Given the description of an element on the screen output the (x, y) to click on. 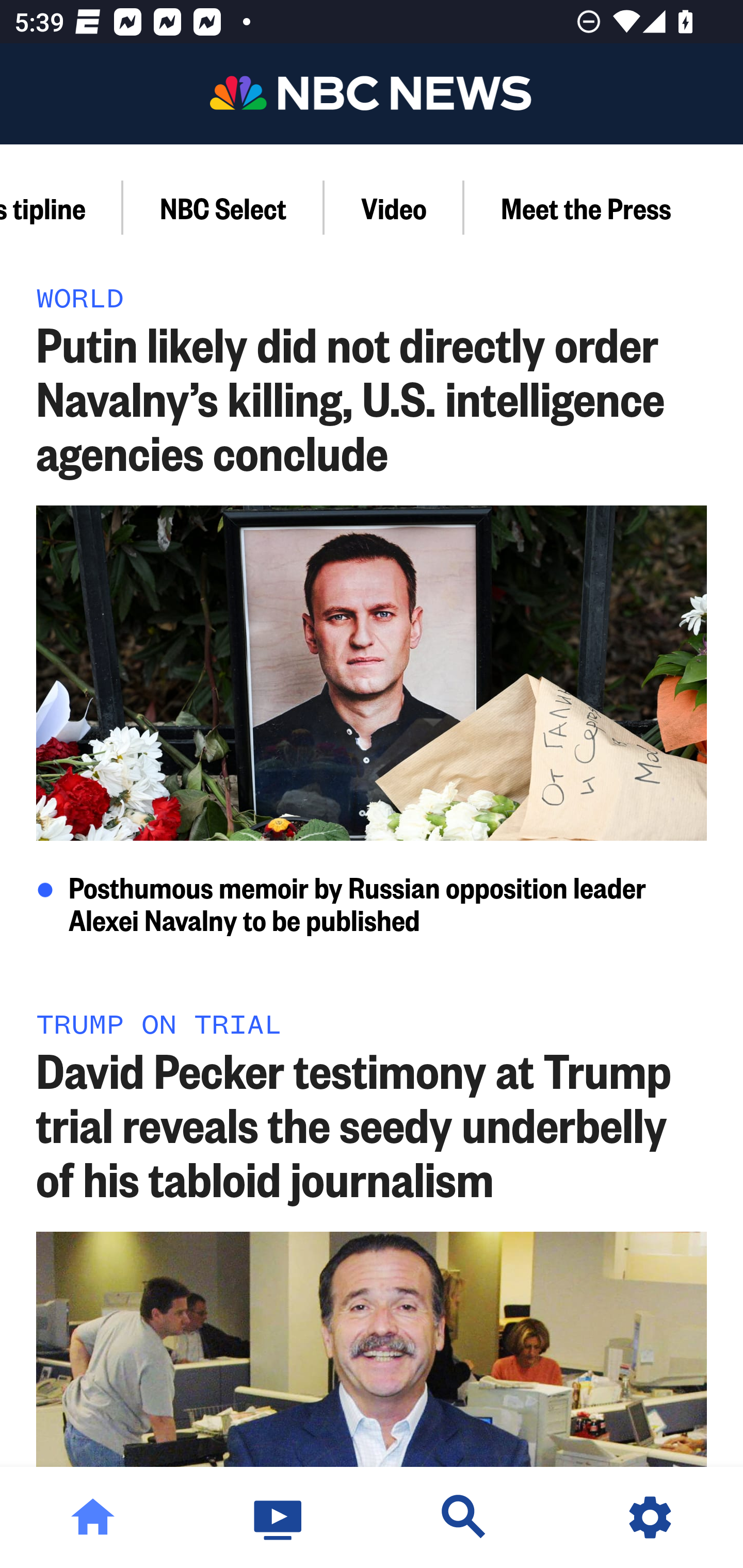
NBC News tipline (61, 207)
NBC Select Section,NBC Select (223, 207)
Video (394, 207)
Meet the Press (585, 207)
Watch (278, 1517)
Discover (464, 1517)
Settings (650, 1517)
